Given the description of an element on the screen output the (x, y) to click on. 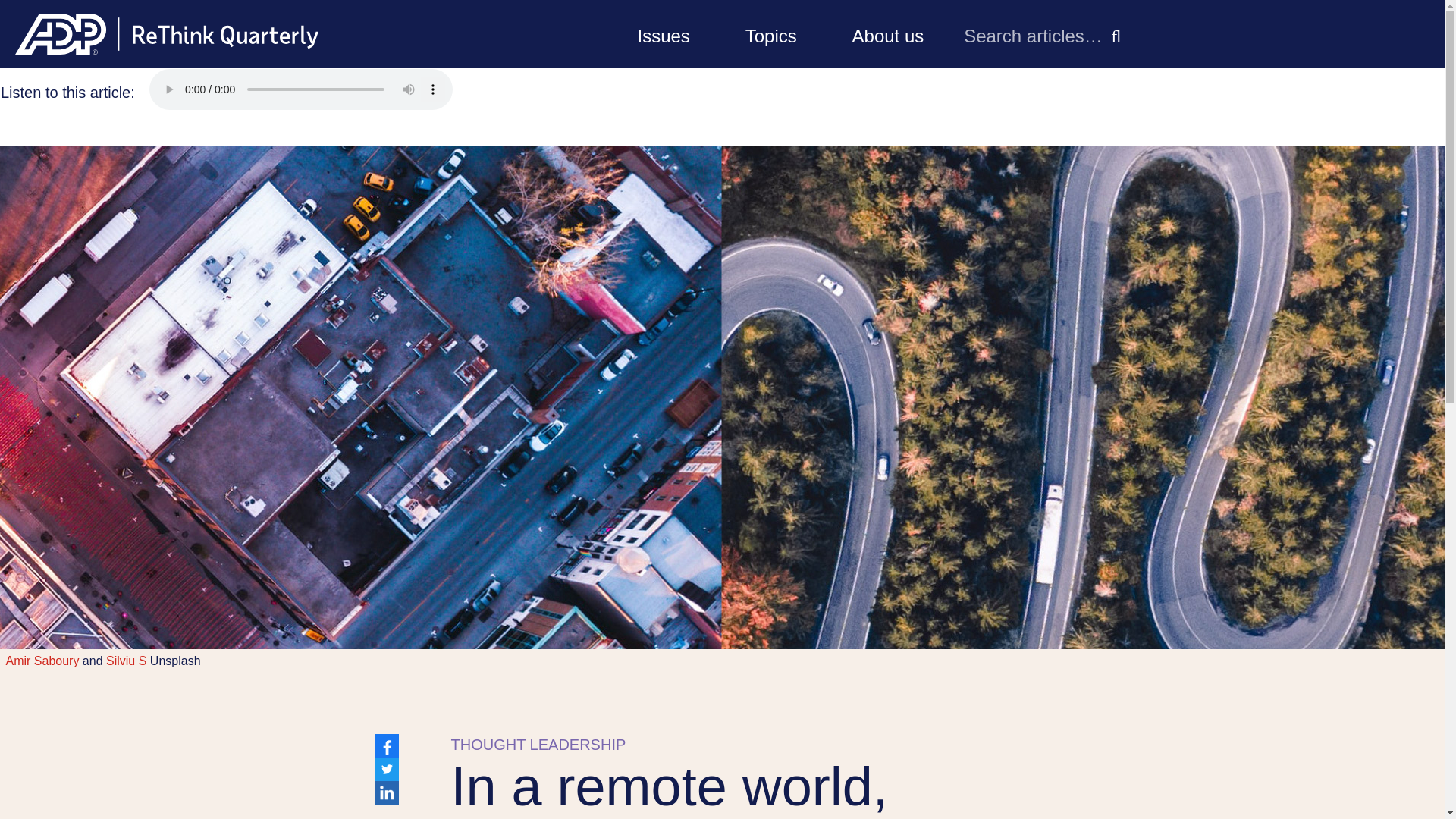
About us (888, 33)
Issues (662, 33)
Amir Saboury (42, 660)
Topics (771, 33)
Topics (771, 33)
Silviu S (126, 660)
Issues (662, 33)
